Given the description of an element on the screen output the (x, y) to click on. 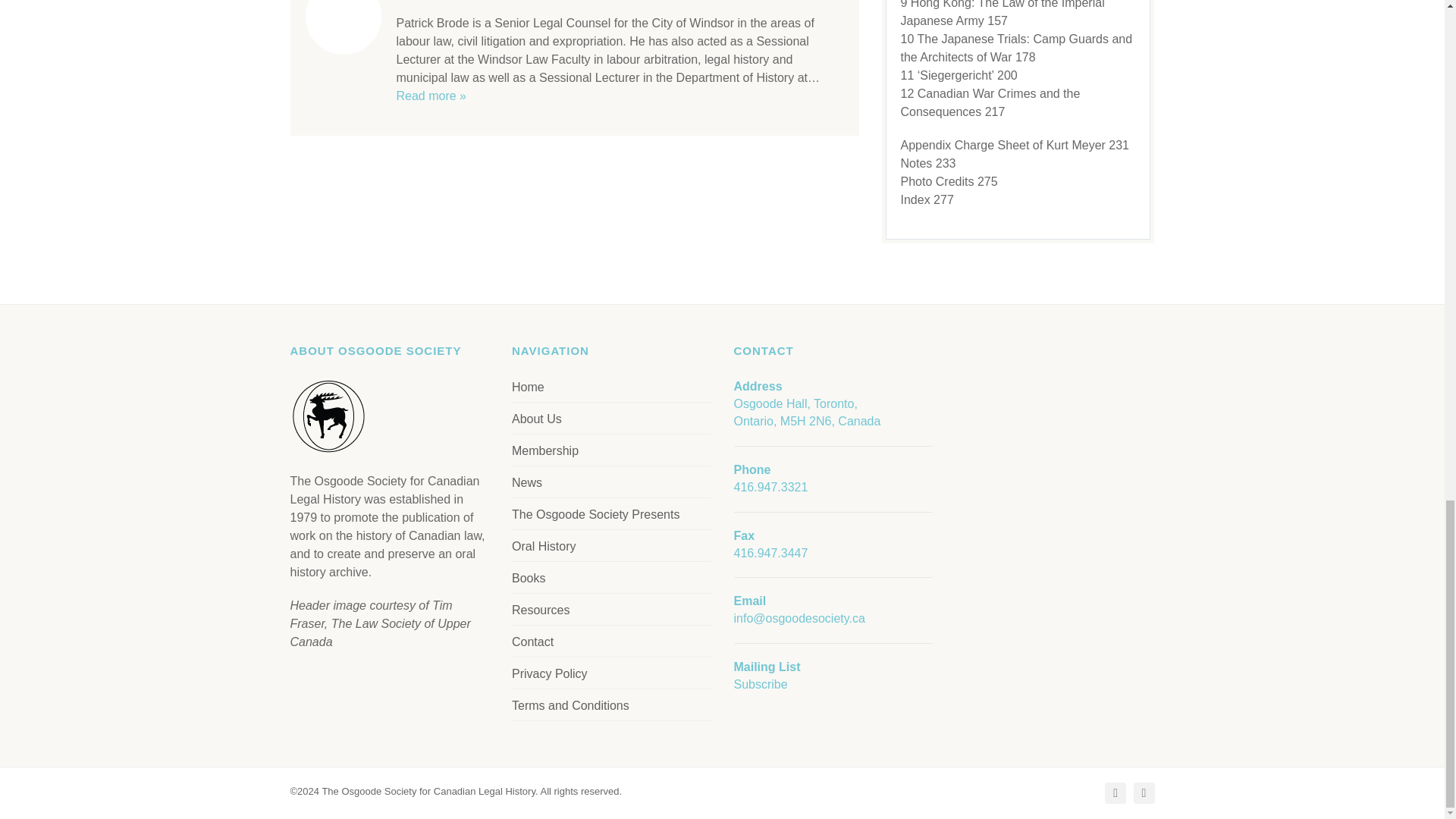
ReadPatrick Brode (430, 95)
